Given the description of an element on the screen output the (x, y) to click on. 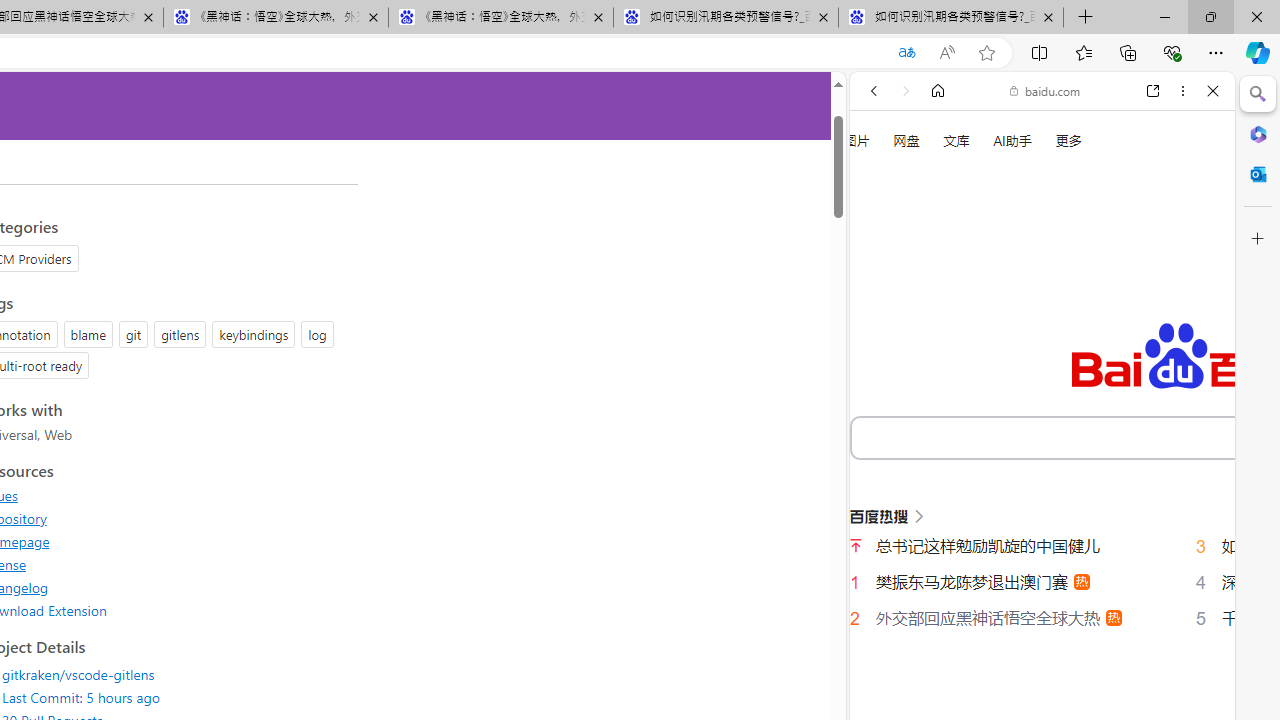
Cambridge Dictionary (1034, 698)
English (Uk) (1042, 628)
English (Uk) (1042, 622)
English (US) (1042, 579)
